Given the description of an element on the screen output the (x, y) to click on. 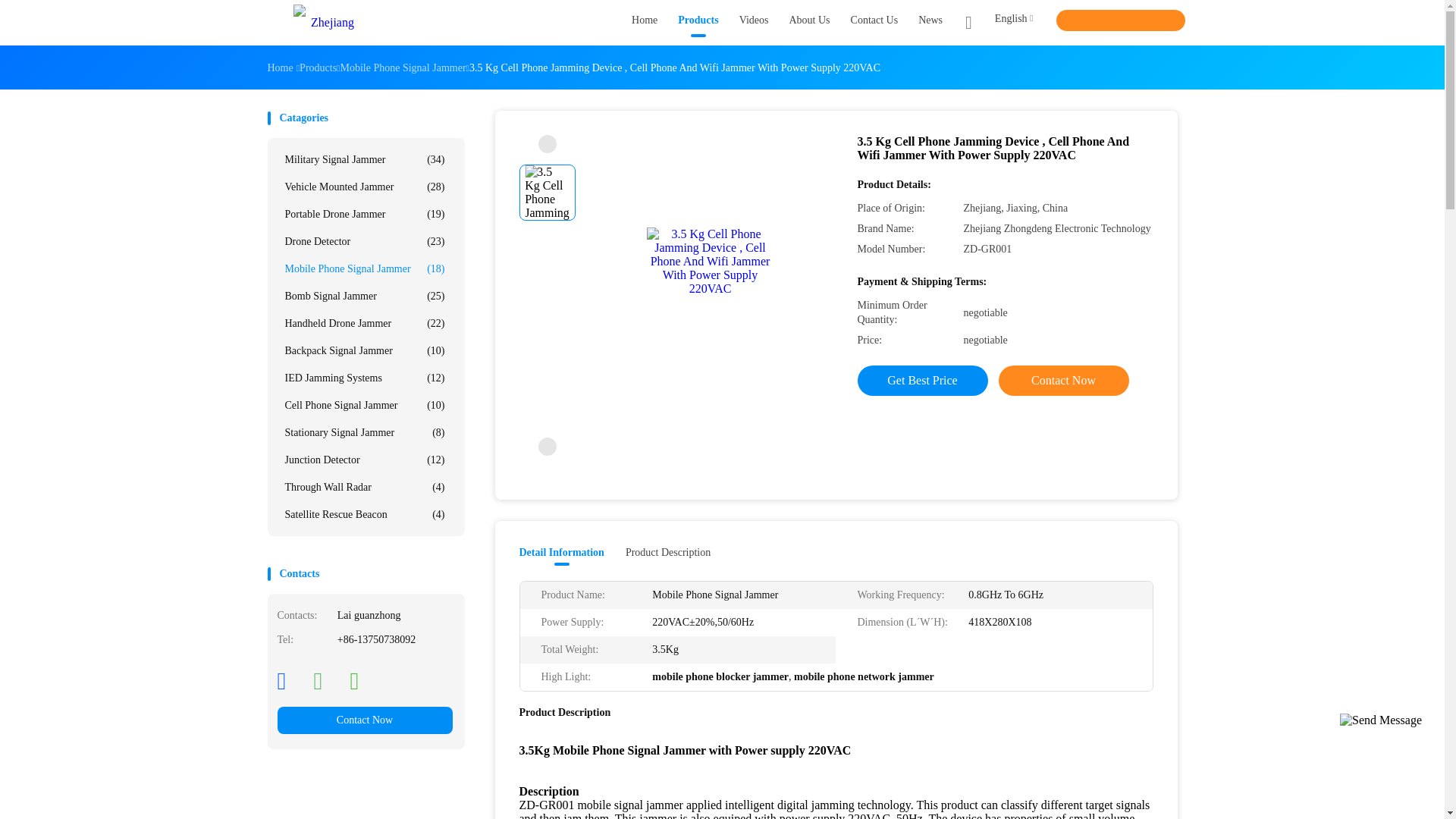
Videos (753, 22)
Home (644, 22)
About Us (809, 22)
News (930, 22)
Contact Us (874, 22)
Products (697, 22)
Zhejiang Zhongdeng Electronics Technology CO,LTD (326, 22)
